Given the description of an element on the screen output the (x, y) to click on. 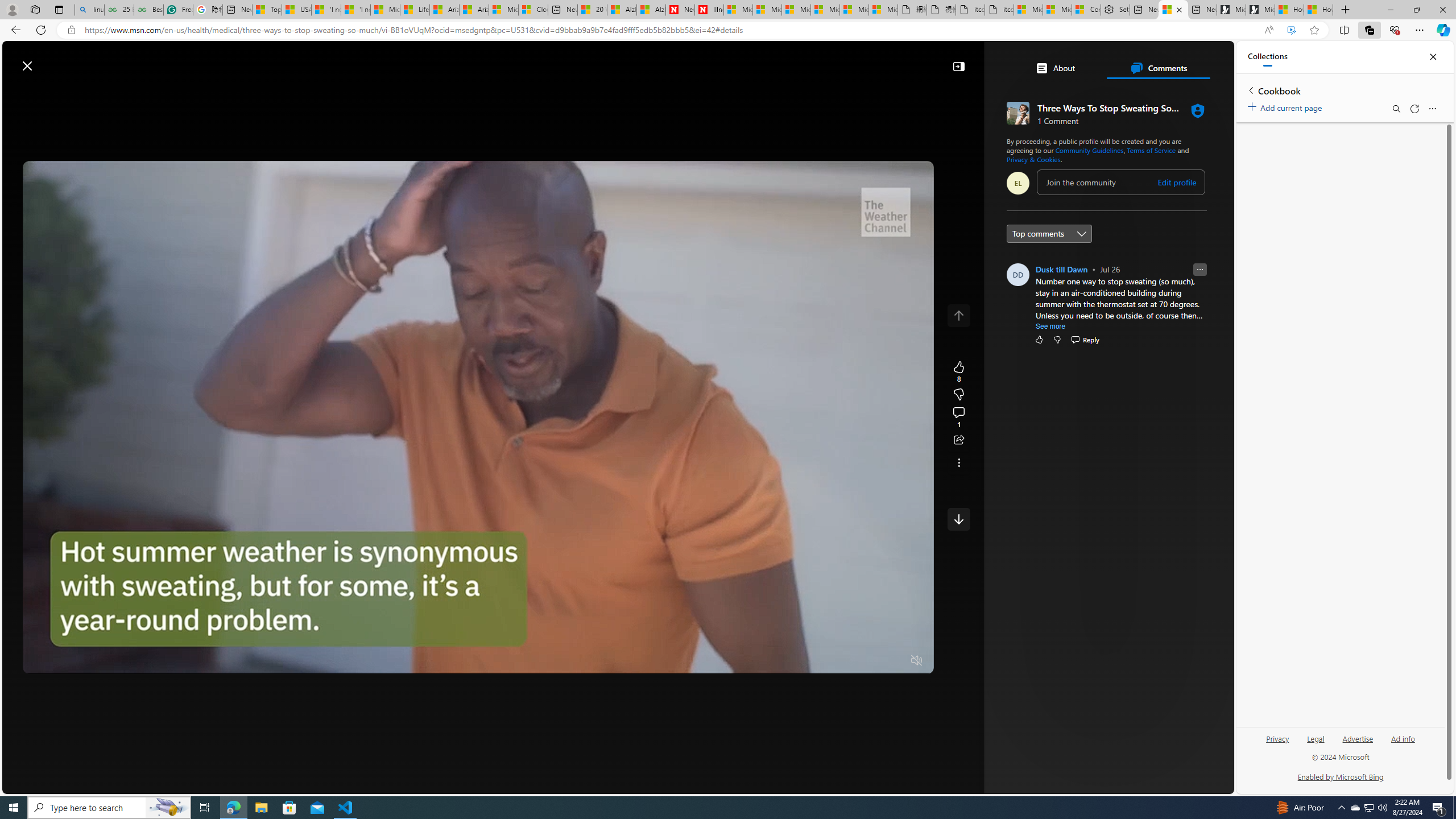
Collapse (958, 65)
Following (264, 92)
Microsoft Start Gaming (1259, 9)
Open Copilot (819, 59)
Quality Settings (849, 660)
Edit profile (1176, 181)
Microsoft rewards (1162, 60)
Report comment (1200, 269)
Profile Picture (1017, 274)
